Given the description of an element on the screen output the (x, y) to click on. 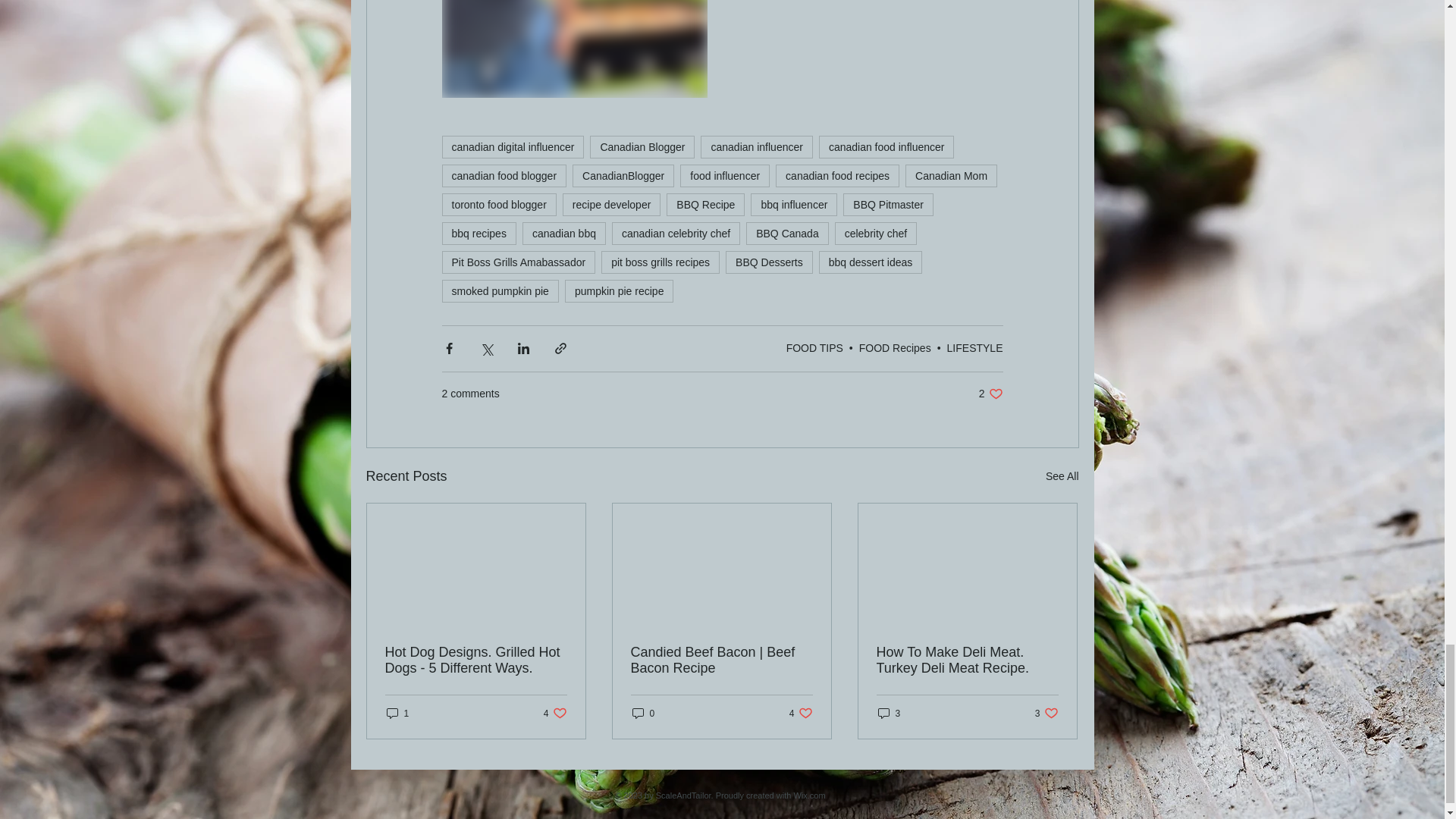
canadian digital influencer (512, 146)
canadian celebrity chef (675, 232)
BBQ Canada (786, 232)
bbq recipes (478, 232)
canadian food recipes (837, 175)
canadian influencer (756, 146)
canadian food influencer (886, 146)
canadian food blogger (503, 175)
CanadianBlogger (623, 175)
recipe developer (611, 204)
food influencer (724, 175)
canadian bbq (563, 232)
BBQ Recipe (705, 204)
Canadian Mom (951, 175)
BBQ Pitmaster (888, 204)
